Given the description of an element on the screen output the (x, y) to click on. 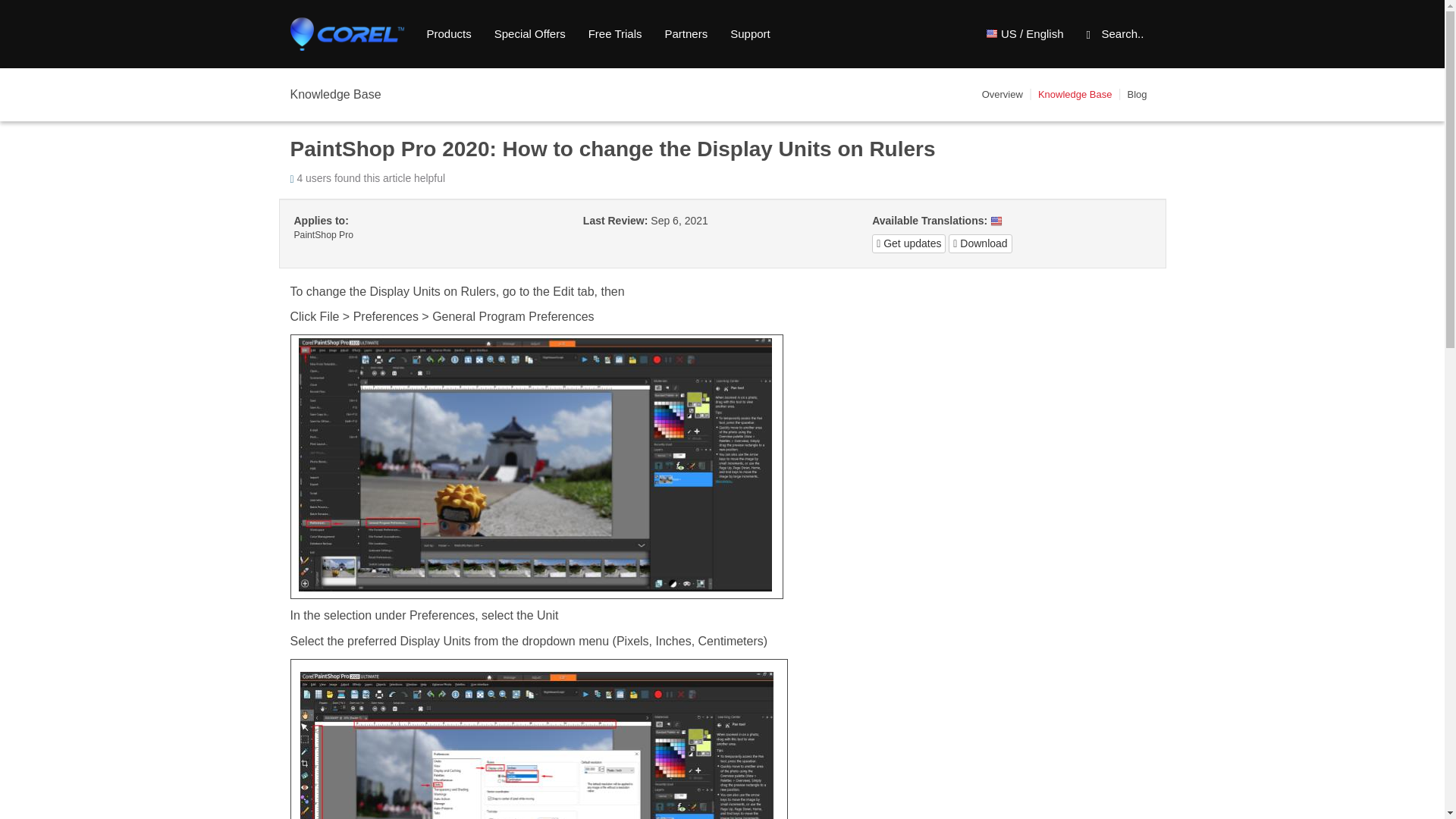
Save as PDF (980, 243)
Special Offers (529, 34)
Products (448, 34)
Overview (1002, 94)
Free Trials (614, 34)
Partners (686, 34)
Download (980, 243)
Knowledge Base (1074, 94)
Subscribe to article updates (908, 243)
Get updates (908, 243)
Support (750, 34)
